Given the description of an element on the screen output the (x, y) to click on. 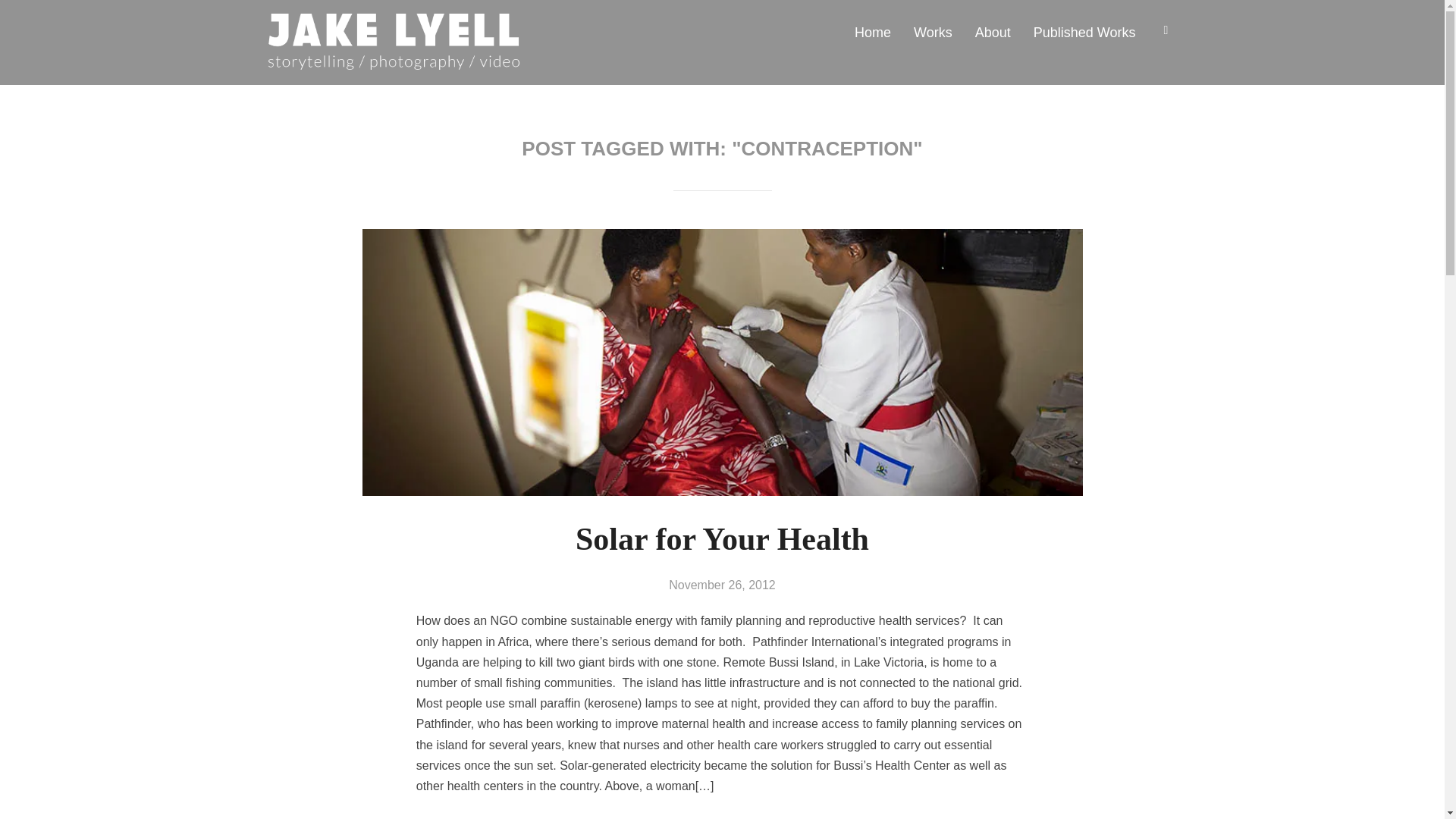
Published Works (1084, 32)
Solar for Your Health (722, 538)
Home (872, 32)
Works (933, 32)
About (992, 32)
Search (15, 15)
